Given the description of an element on the screen output the (x, y) to click on. 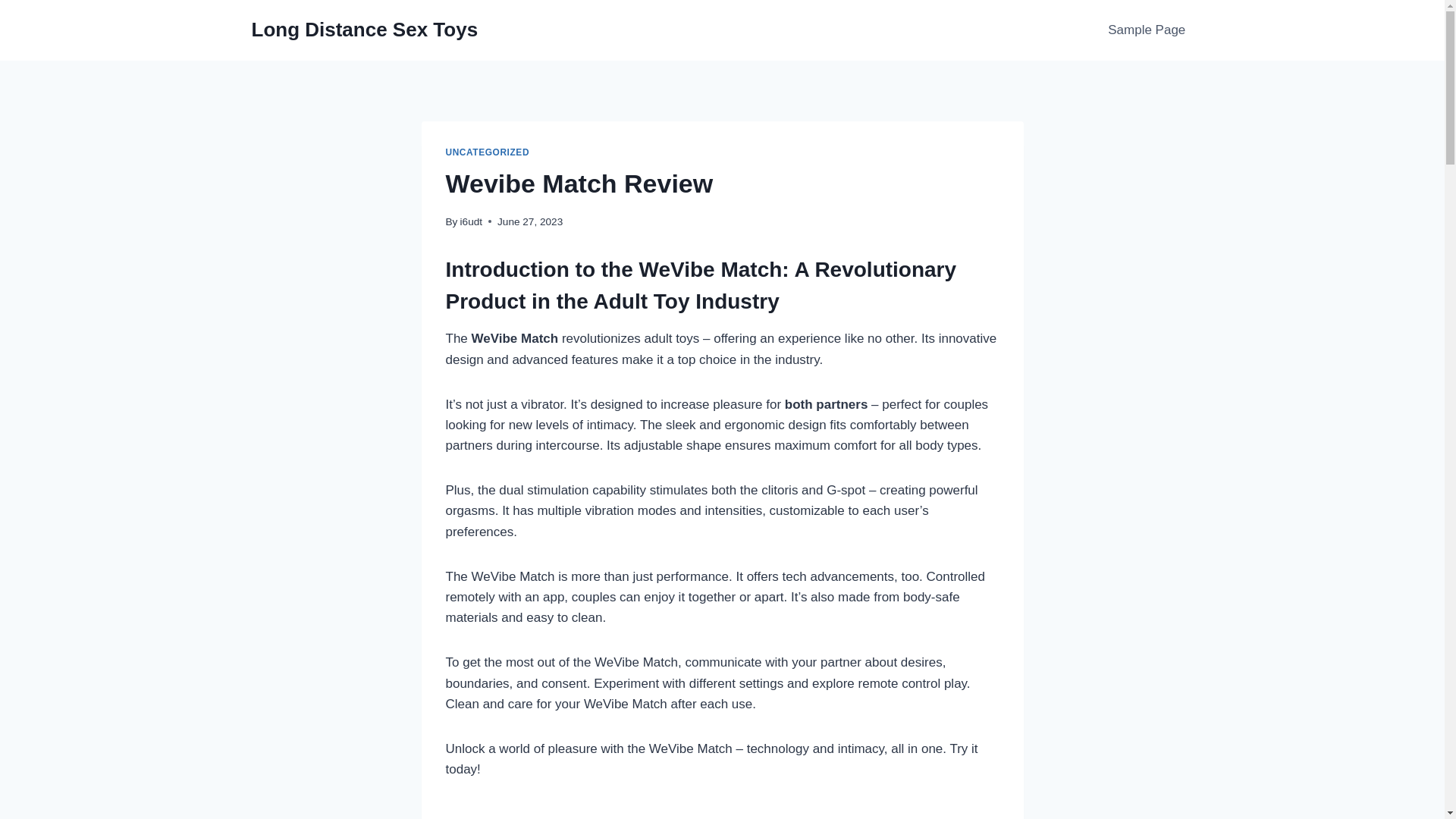
Sample Page (1146, 30)
Long Distance Sex Toys (365, 29)
i6udt (470, 221)
UNCATEGORIZED (487, 152)
